Given the description of an element on the screen output the (x, y) to click on. 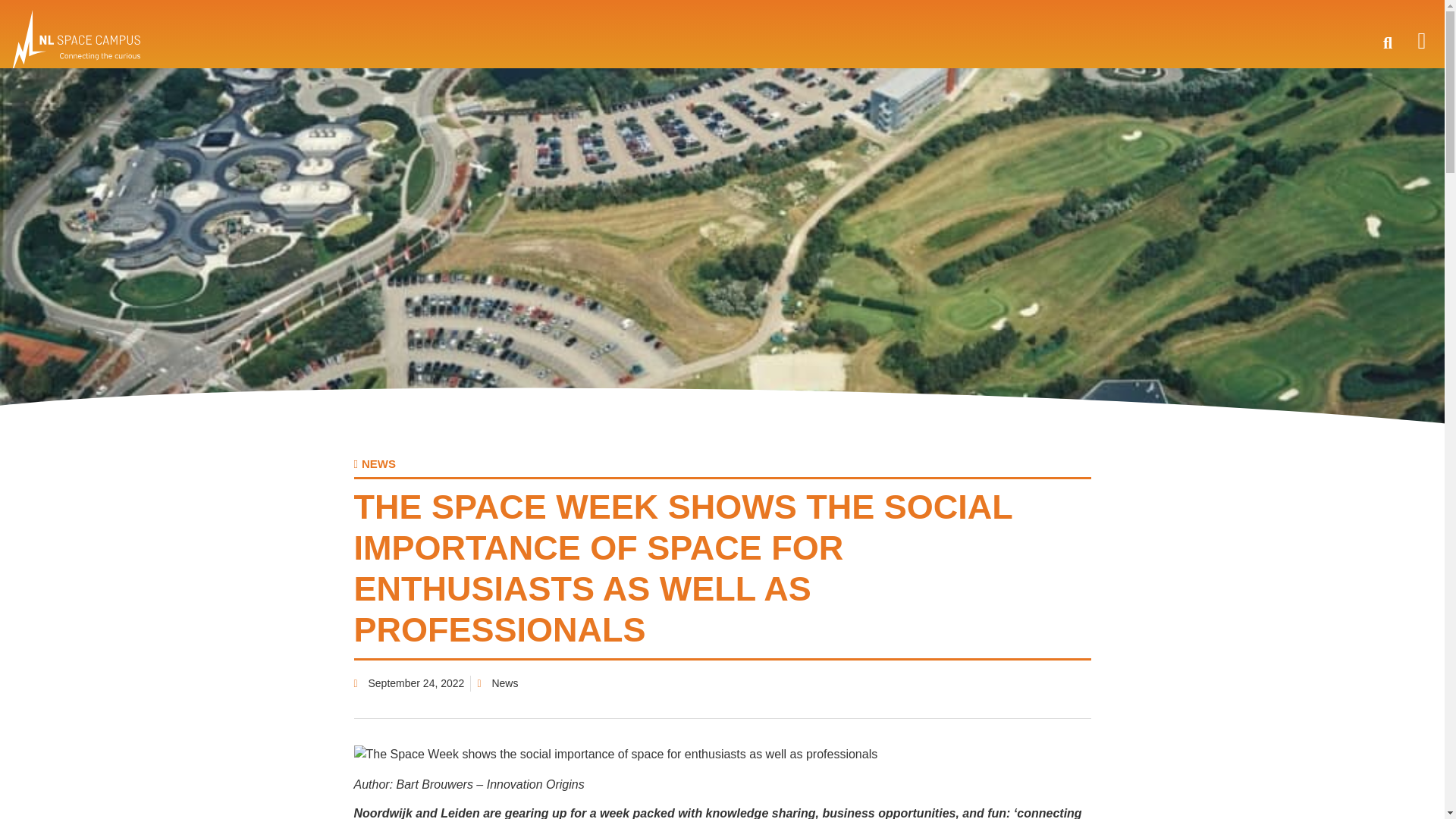
NEWS (373, 463)
News (505, 683)
